Given the description of an element on the screen output the (x, y) to click on. 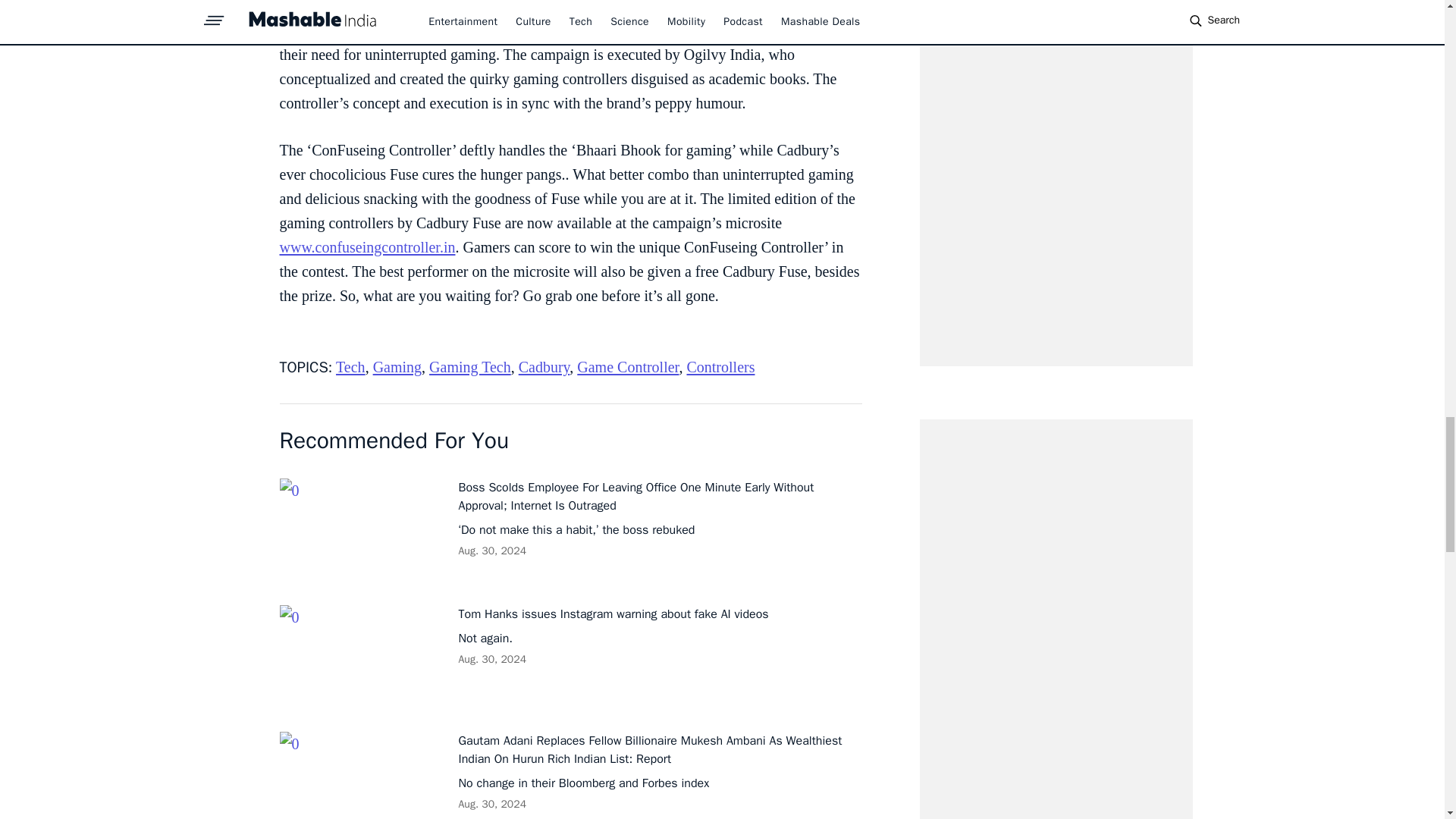
Gaming (397, 366)
www.confuseingcontroller.in (366, 247)
Gaming Tech (470, 366)
Tech (350, 366)
Controllers (719, 366)
Cadbury (544, 366)
Game Controller (627, 366)
